Given the description of an element on the screen output the (x, y) to click on. 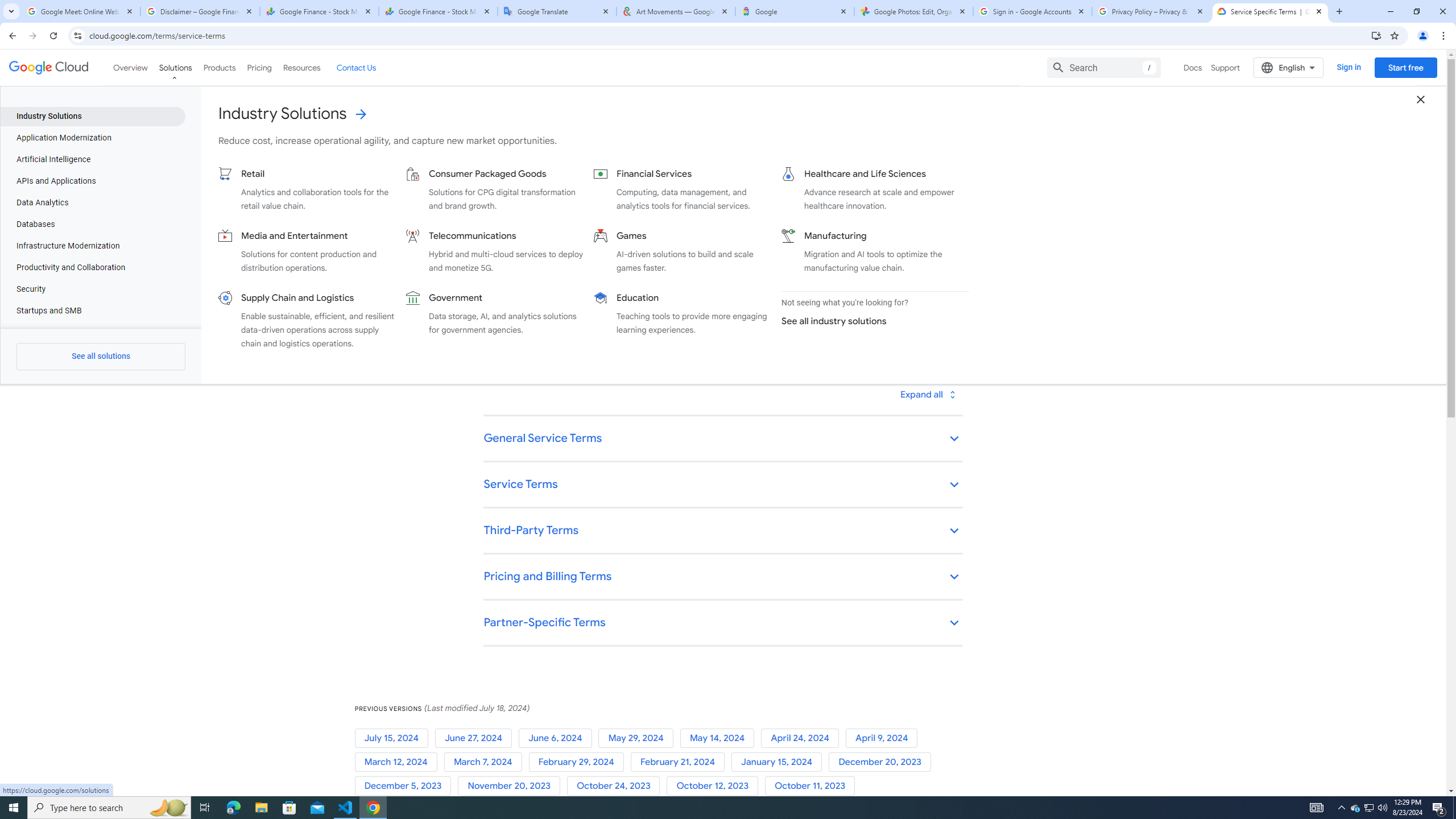
June 27, 2024 (475, 737)
